Given the description of an element on the screen output the (x, y) to click on. 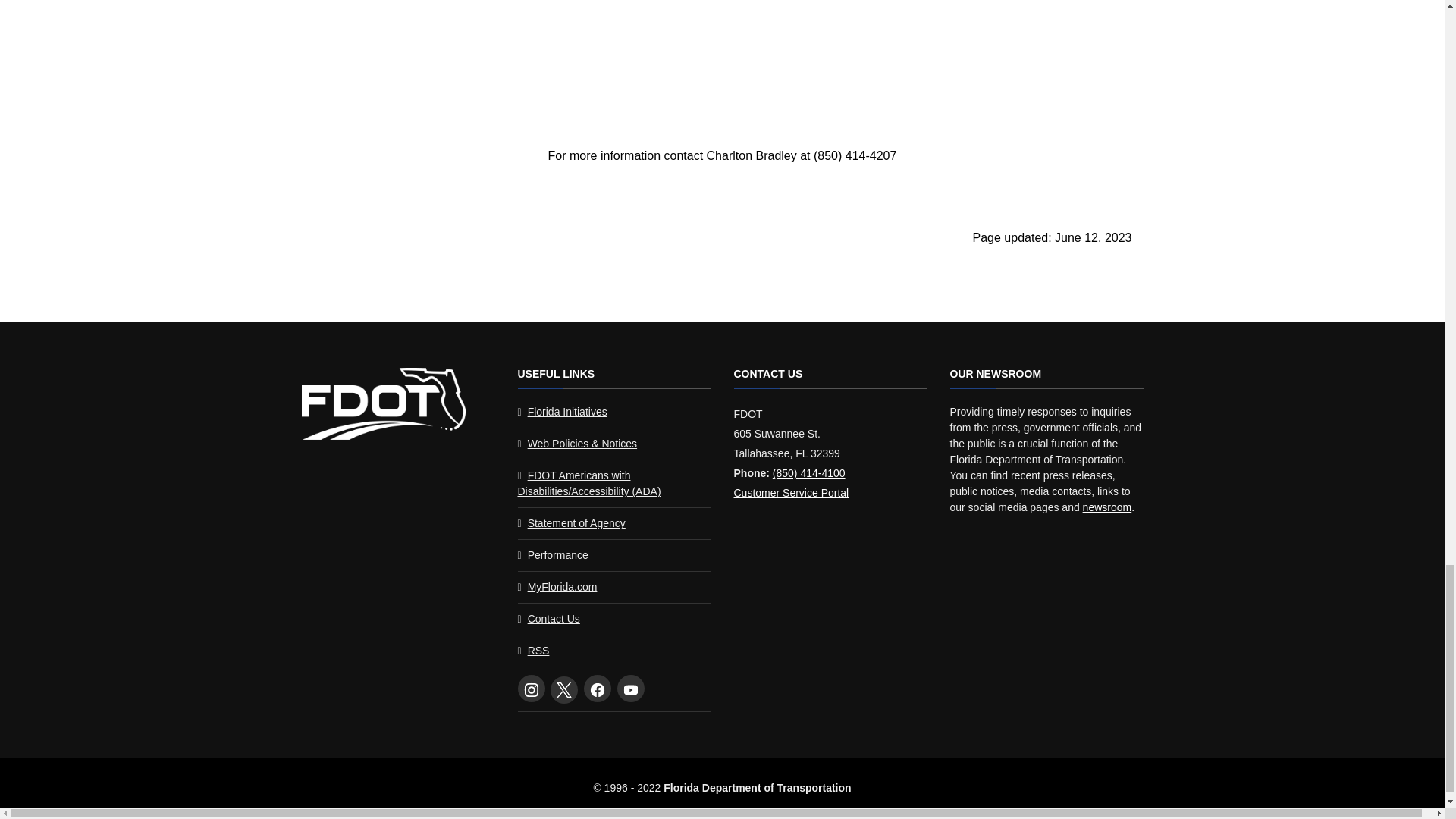
Florida Initiatives (567, 411)
